Given the description of an element on the screen output the (x, y) to click on. 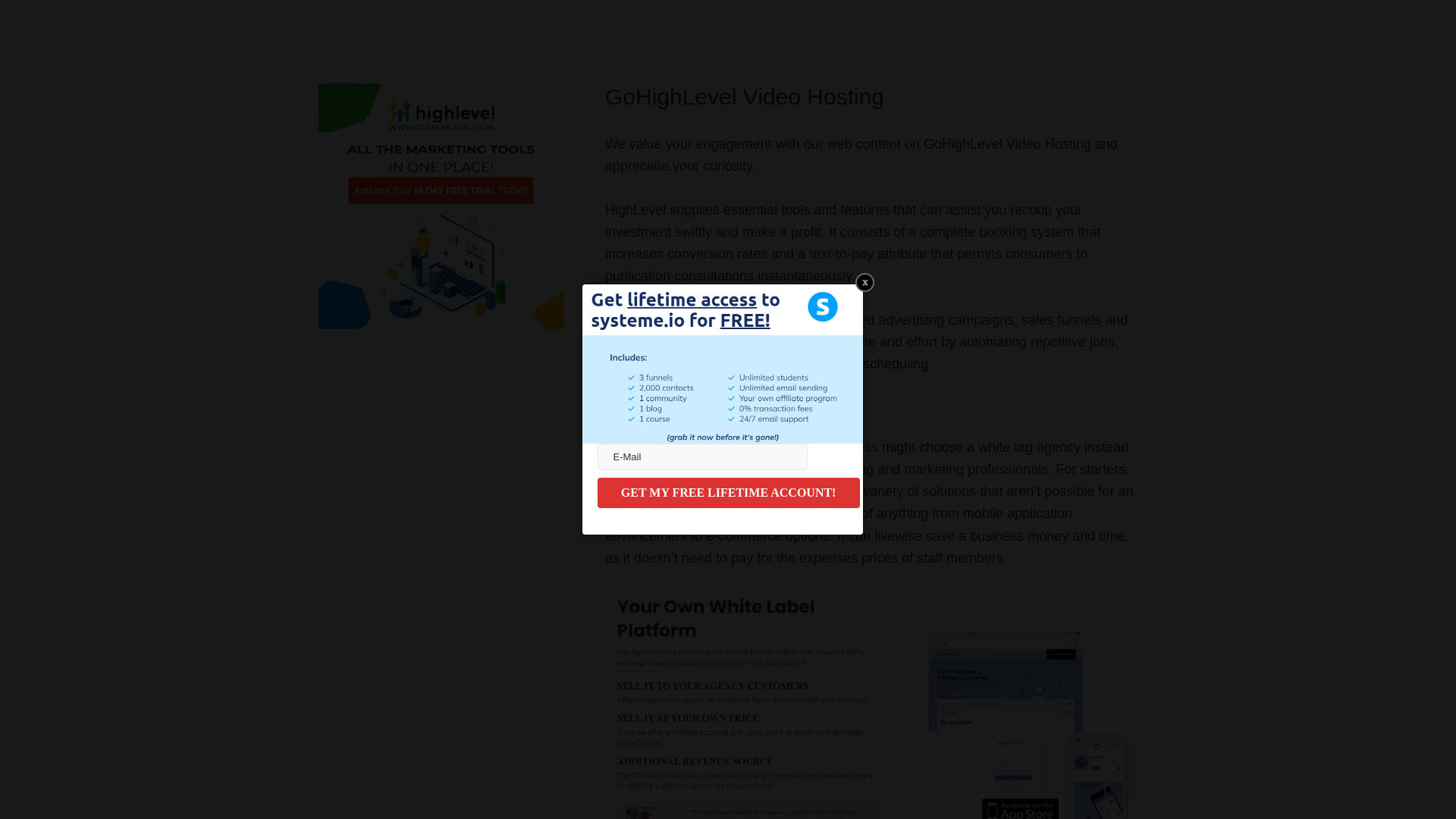
GET MY FREE LIFETIME ACCOUNT! (728, 492)
GET MY FREE LIFETIME ACCOUNT! (728, 492)
